Given the description of an element on the screen output the (x, y) to click on. 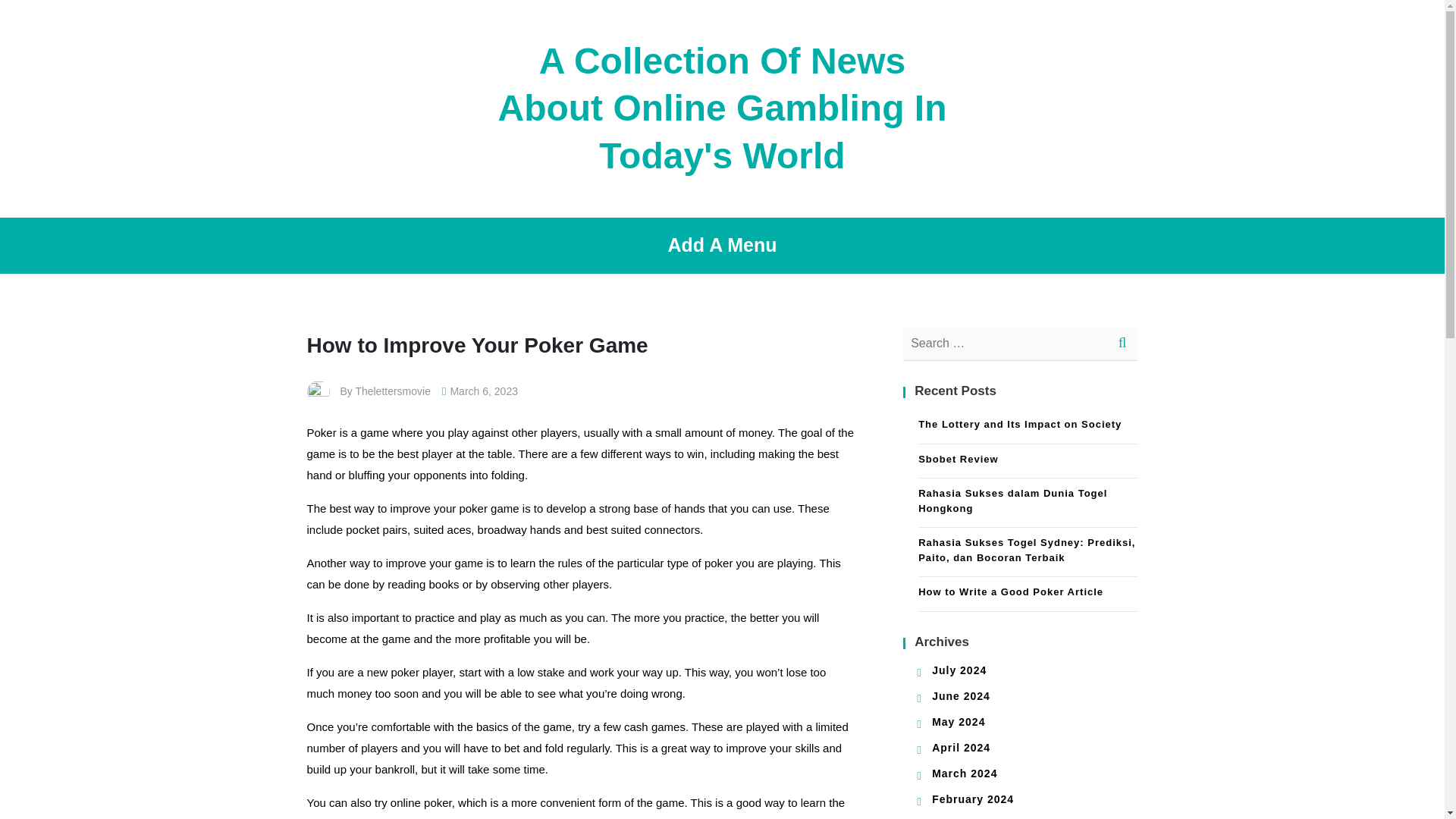
July 2024 (959, 670)
Search (1120, 344)
April 2024 (960, 747)
The Lottery and Its Impact on Society (1027, 425)
February 2024 (972, 799)
How to Write a Good Poker Article (1027, 593)
May 2024 (958, 721)
Rahasia Sukses dalam Dunia Togel Hongkong (1027, 502)
June 2024 (960, 695)
Search (1120, 344)
March 2024 (964, 773)
Sbobet Review (1027, 461)
A Collection Of News About Online Gambling In Today'S World (721, 108)
Thelettersmovie (392, 390)
